Given the description of an element on the screen output the (x, y) to click on. 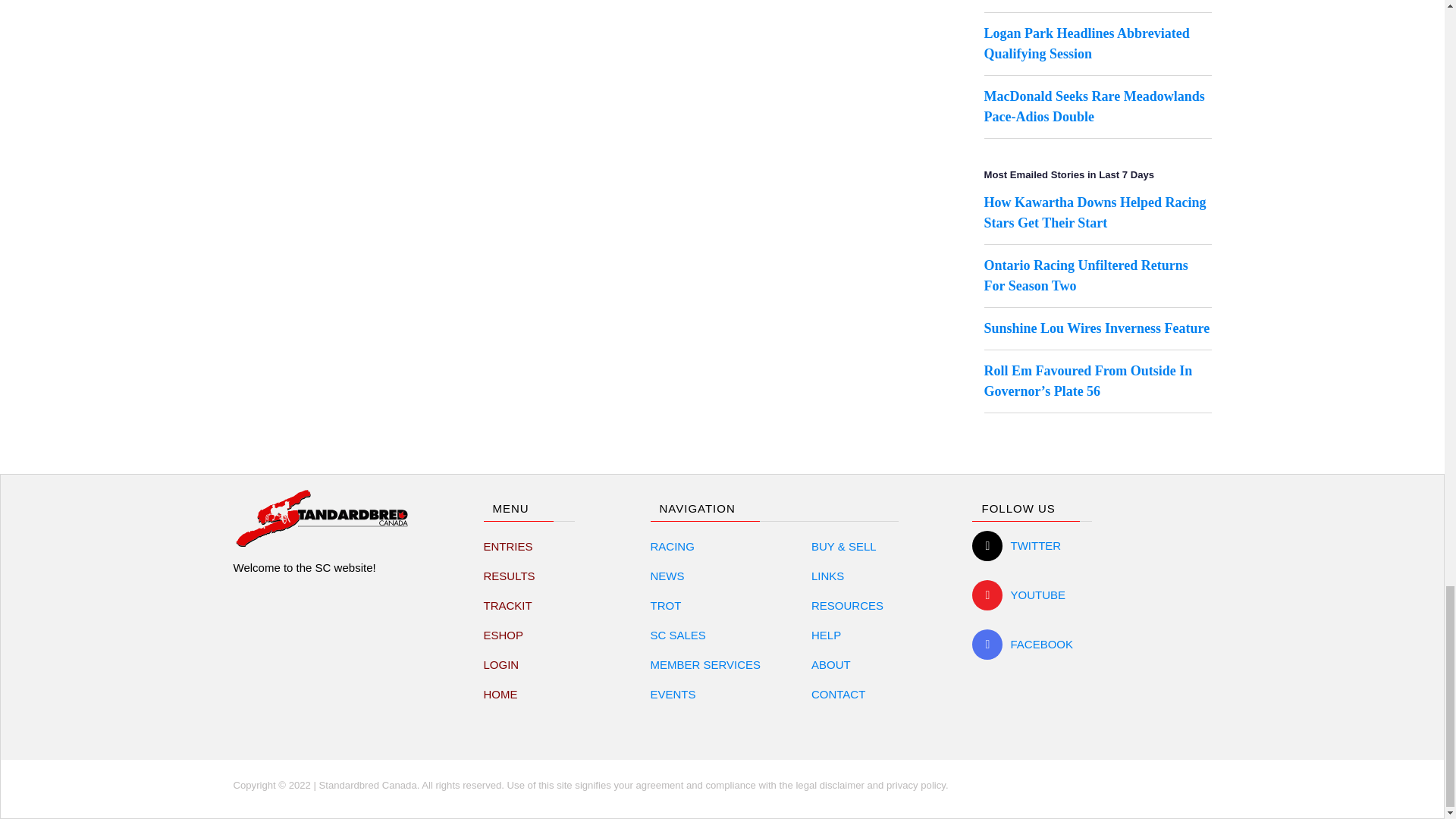
Homepage (500, 694)
